Given the description of an element on the screen output the (x, y) to click on. 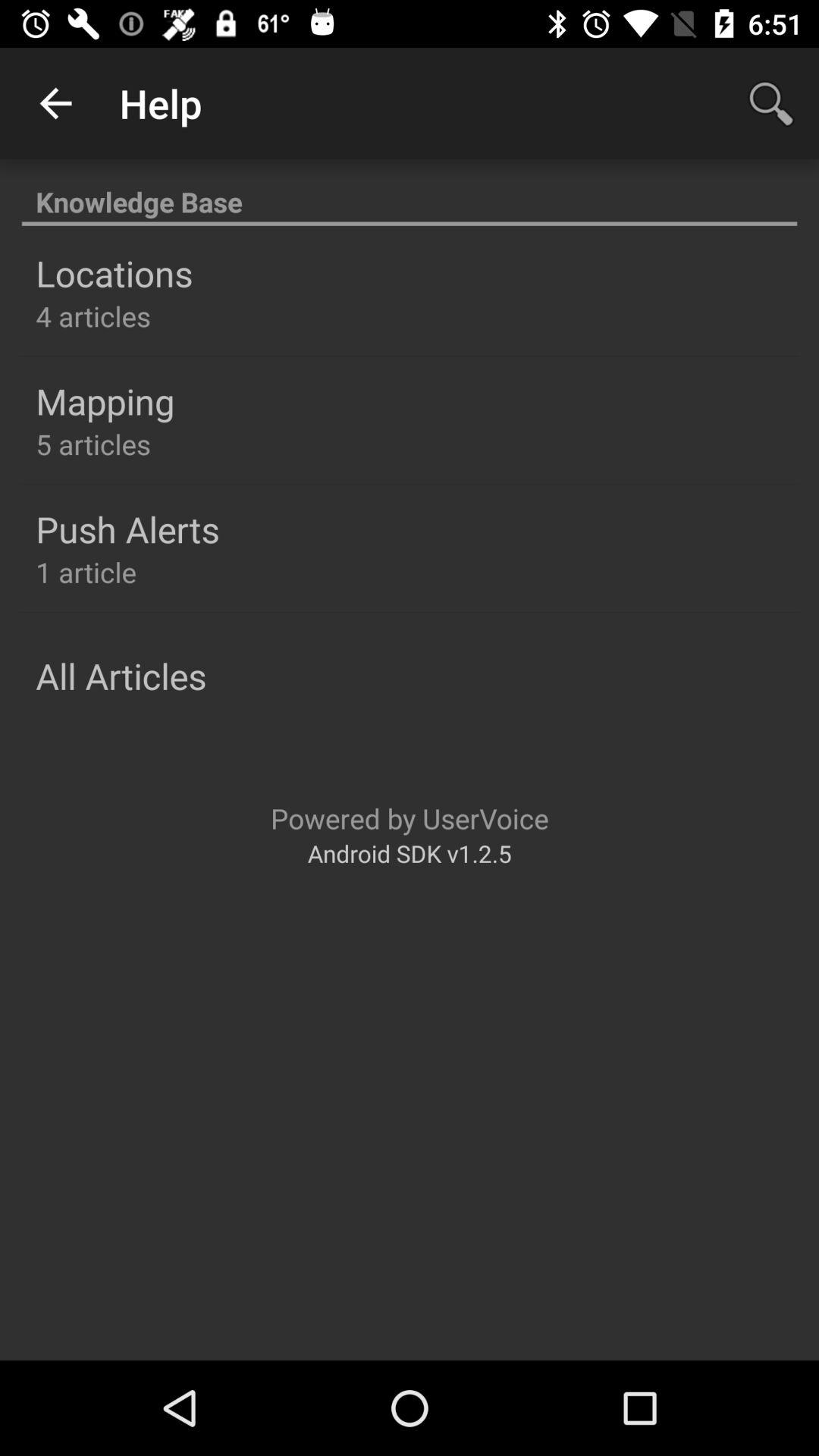
turn on 4 articles (92, 315)
